Given the description of an element on the screen output the (x, y) to click on. 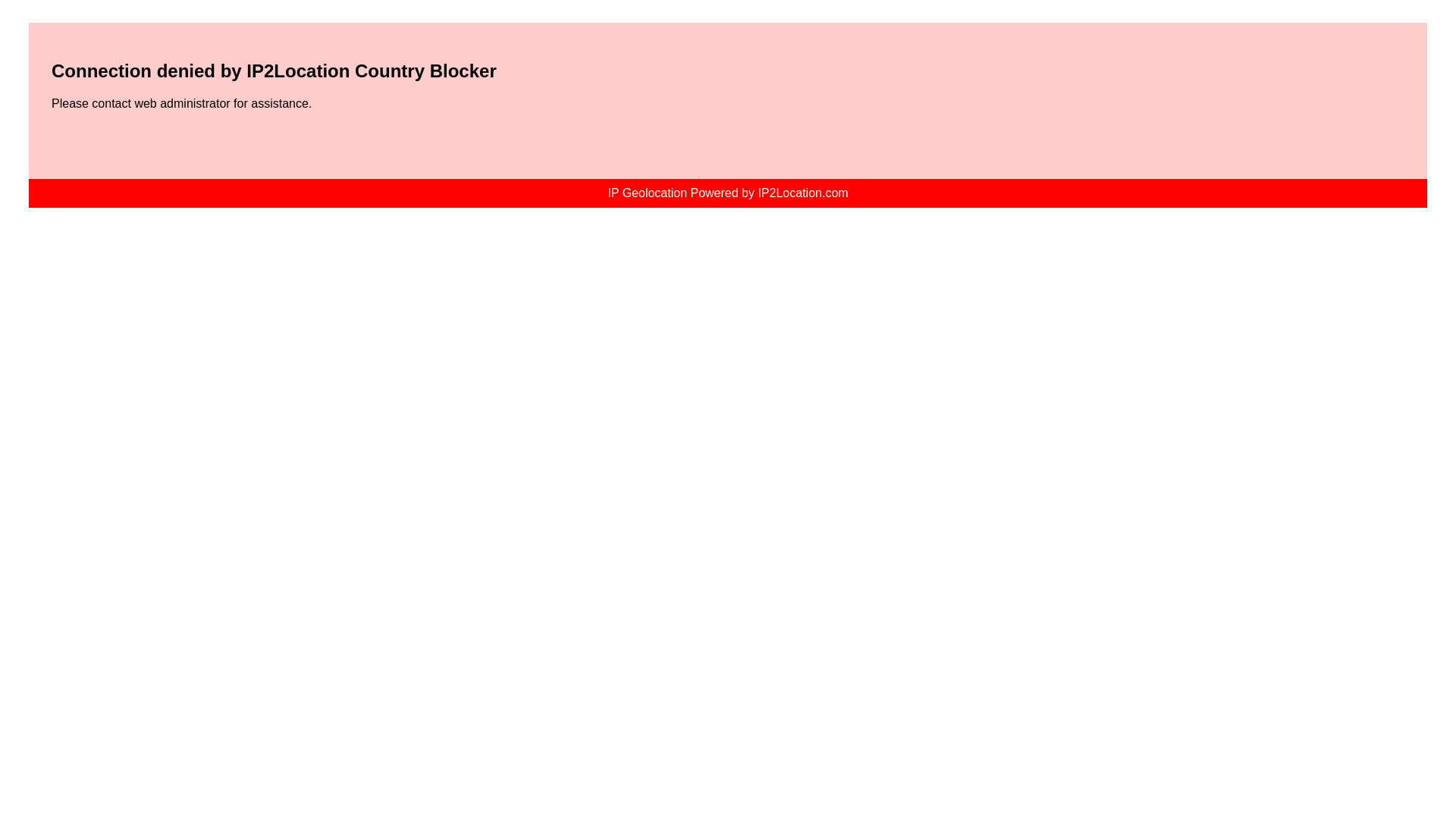
IP Geolocation Powered by IP2Location.com Element type: text (727, 192)
